Given the description of an element on the screen output the (x, y) to click on. 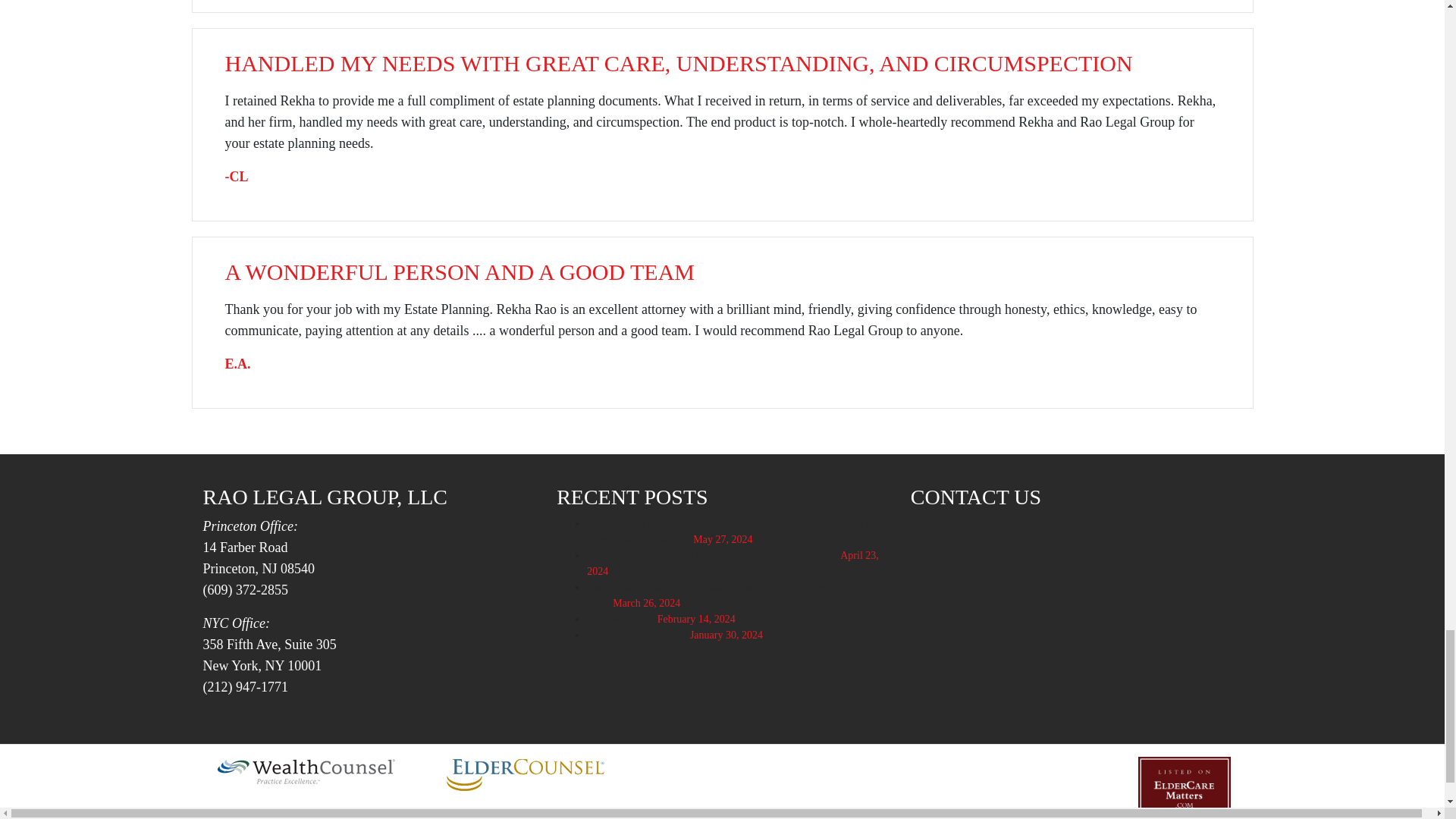
Revocable Living Trust (636, 634)
